Given the description of an element on the screen output the (x, y) to click on. 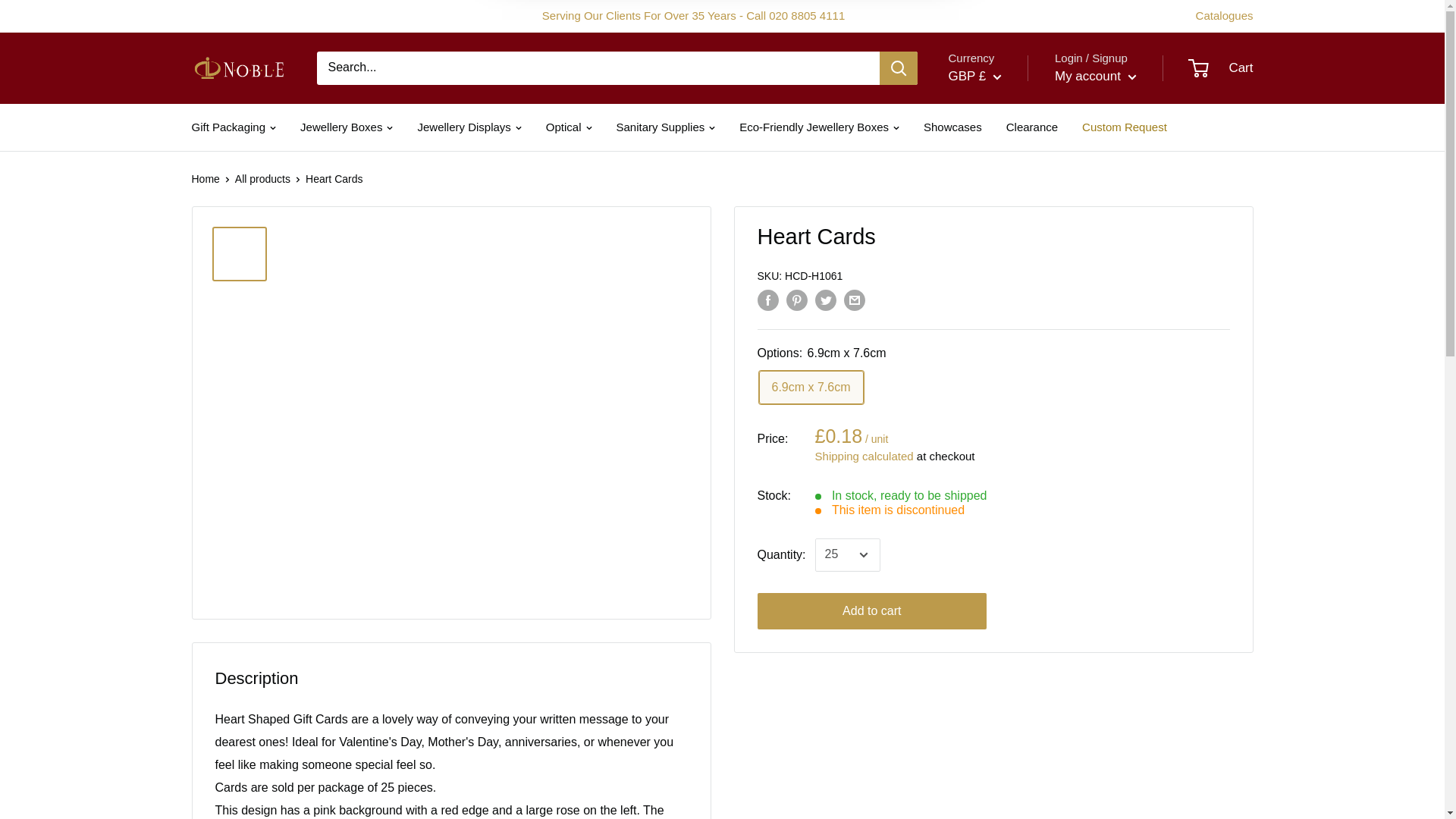
Catalogues (1224, 15)
6.9cm x 7.6cm (810, 387)
